Given the description of an element on the screen output the (x, y) to click on. 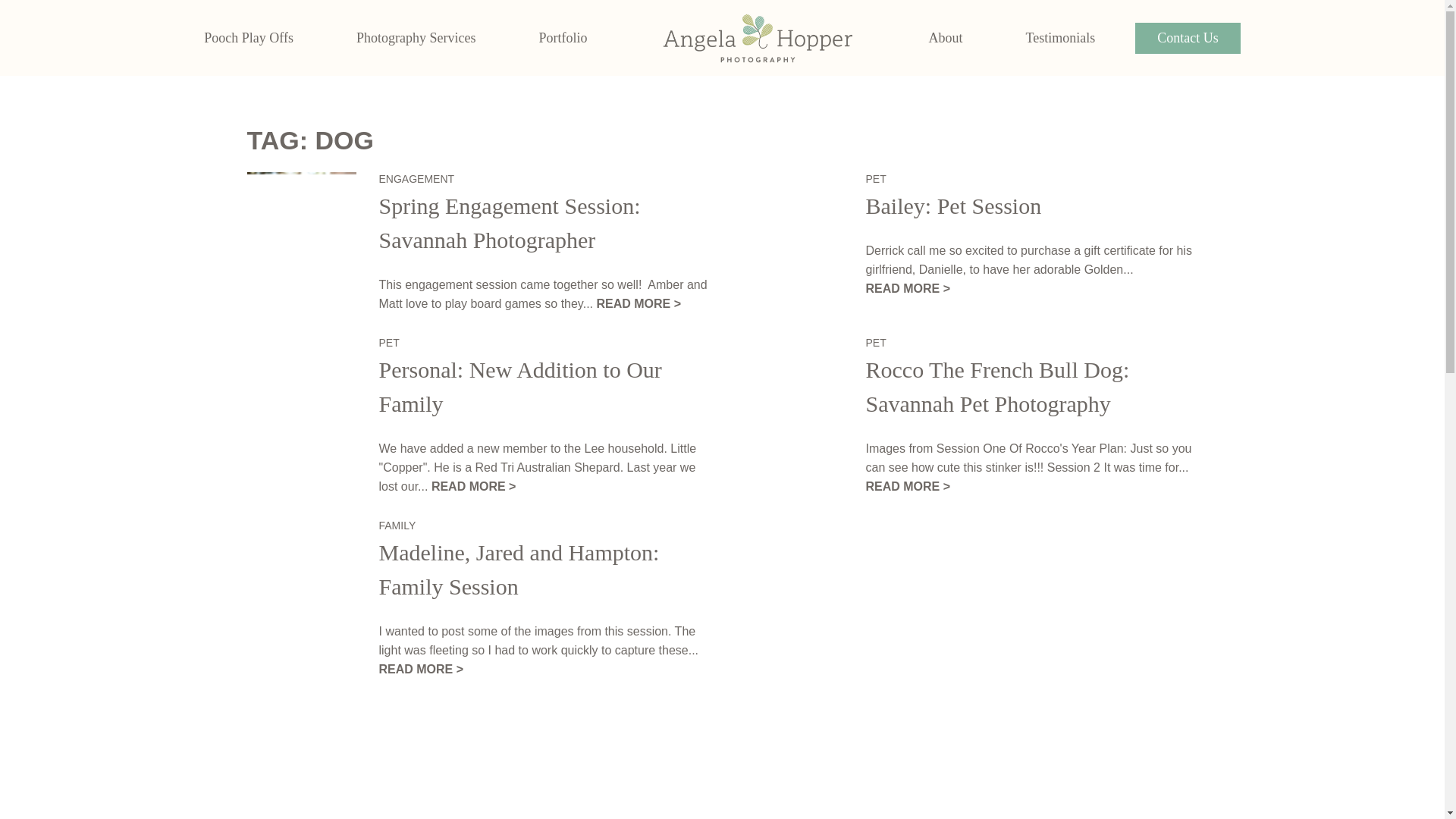
About (945, 38)
Portfolio (562, 38)
Angela Hopper Photography in Savannah GA (756, 37)
Pooch Play Offs (248, 38)
Testimonials (1059, 38)
Contact Us (1187, 38)
Photography Services (416, 38)
